Given the description of an element on the screen output the (x, y) to click on. 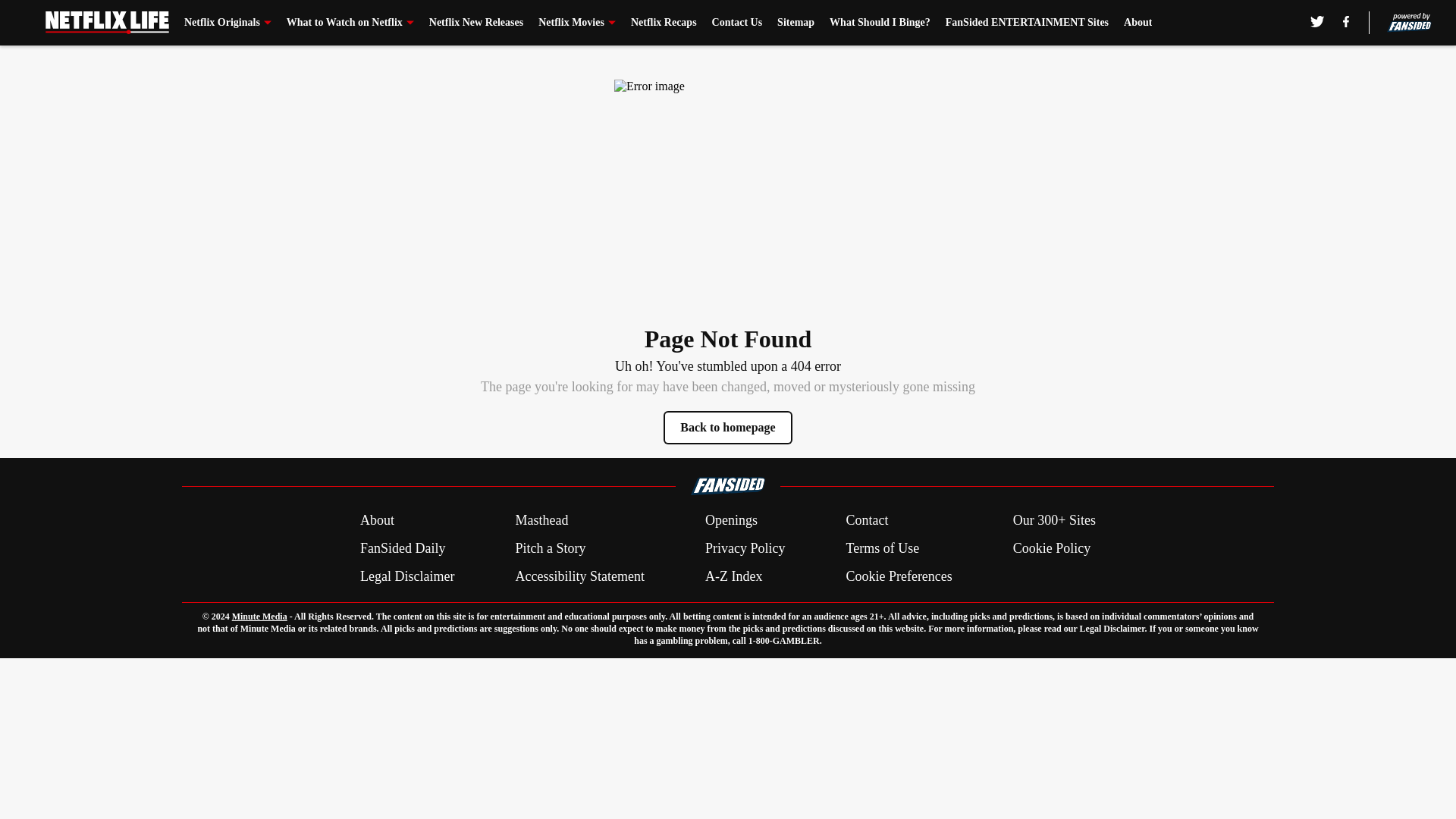
Error image (727, 193)
Netflix Movies (576, 22)
Netflix Originals (227, 22)
What to Watch on Netflix (349, 22)
Netflix New Releases (475, 22)
